Given the description of an element on the screen output the (x, y) to click on. 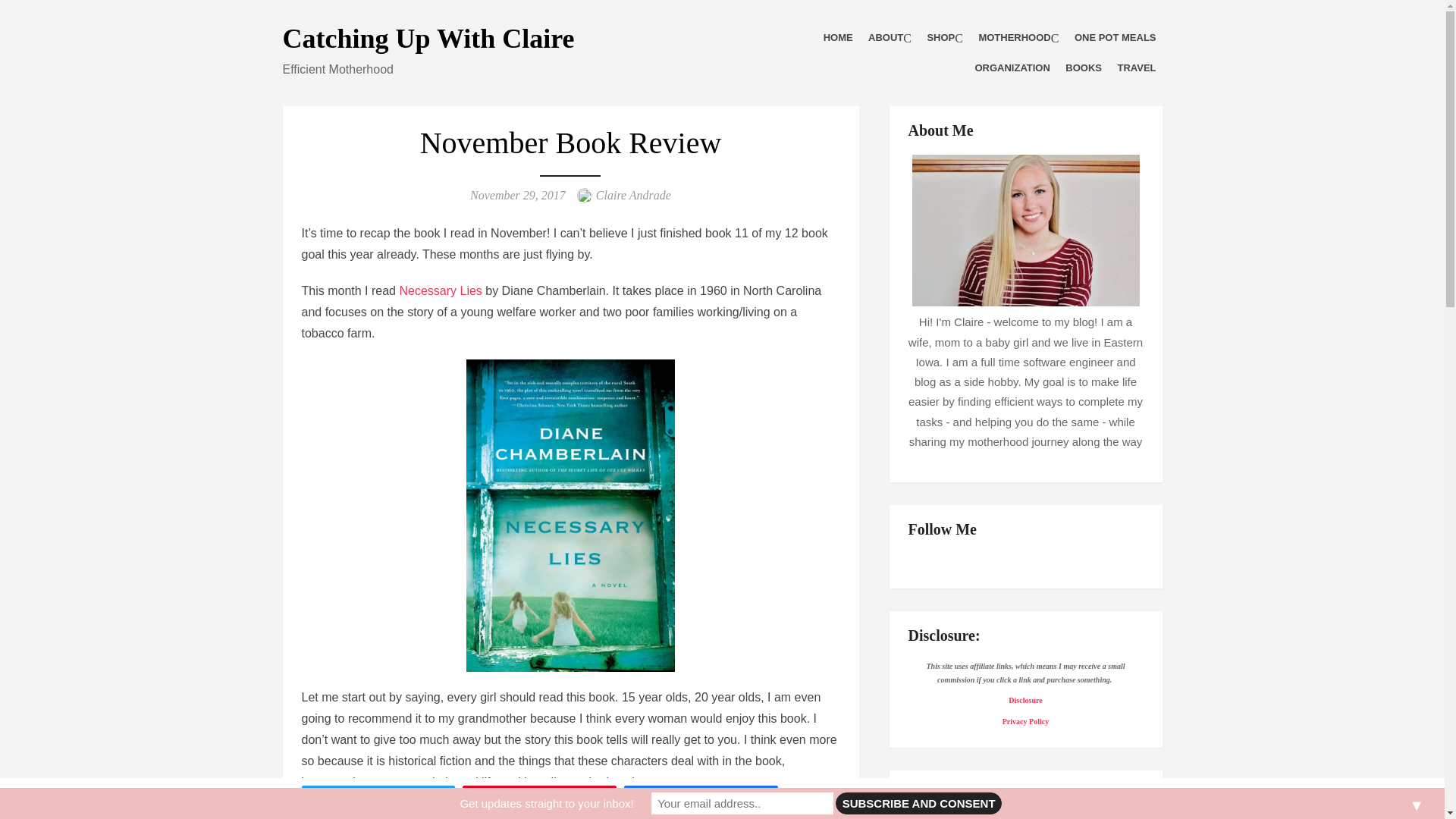
HOME (837, 37)
Catching Up With Claire (427, 38)
Subscribe and Consent (918, 803)
ONE POT MEALS (1114, 37)
ABOUT (889, 37)
MOTHERHOOD (1018, 37)
ORGANIZATION (1011, 68)
SHOP (944, 37)
November 29, 2017 (518, 195)
TRAVEL (1135, 68)
BOOKS (1083, 68)
Necessary Lies (439, 290)
Claire Andrade (633, 195)
